Given the description of an element on the screen output the (x, y) to click on. 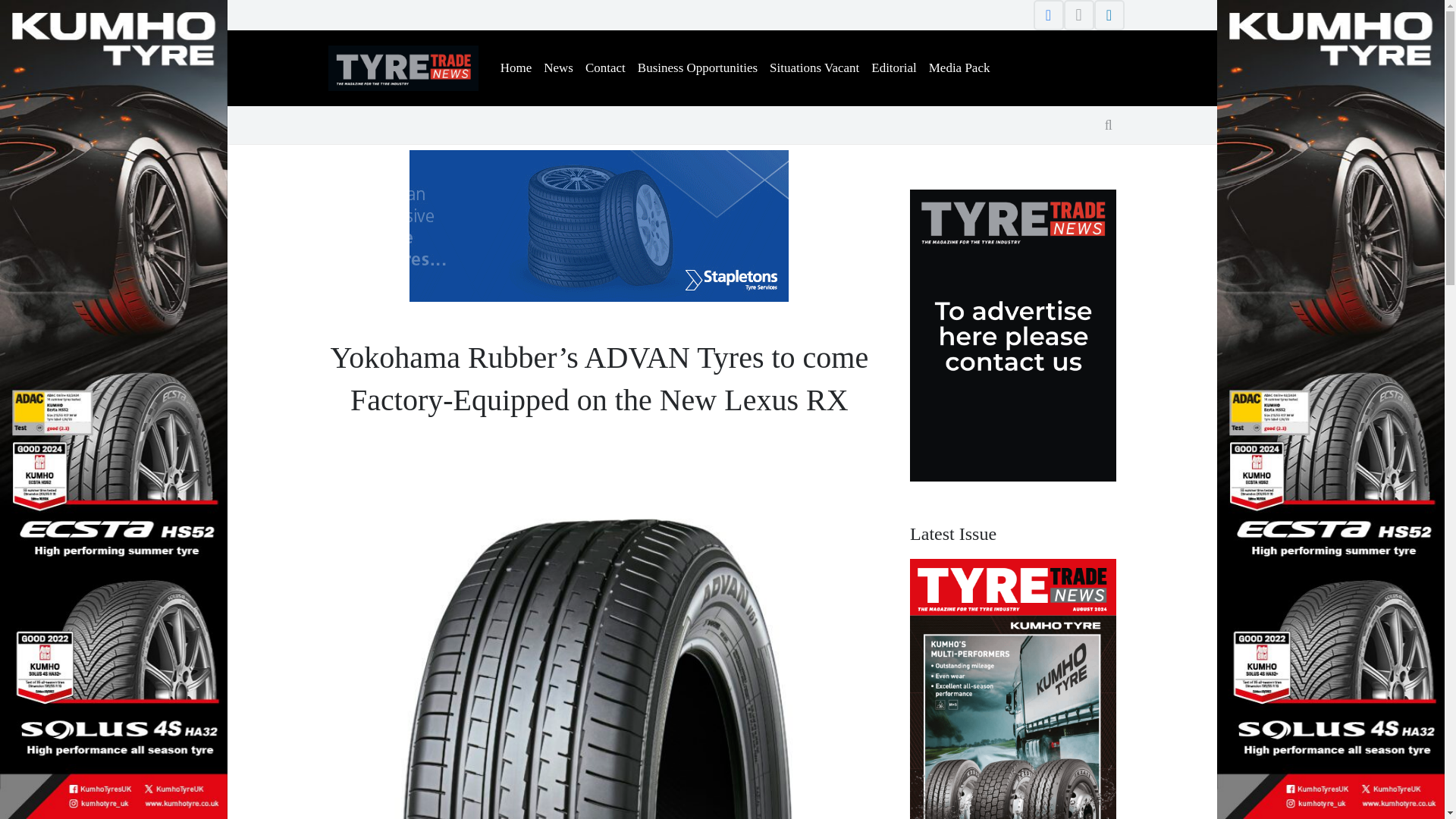
Facebook (1047, 15)
Business Opportunities (696, 68)
LinkedIn (1108, 15)
Instagram (1077, 15)
Situations Vacant (813, 68)
Media Pack (959, 68)
